Given the description of an element on the screen output the (x, y) to click on. 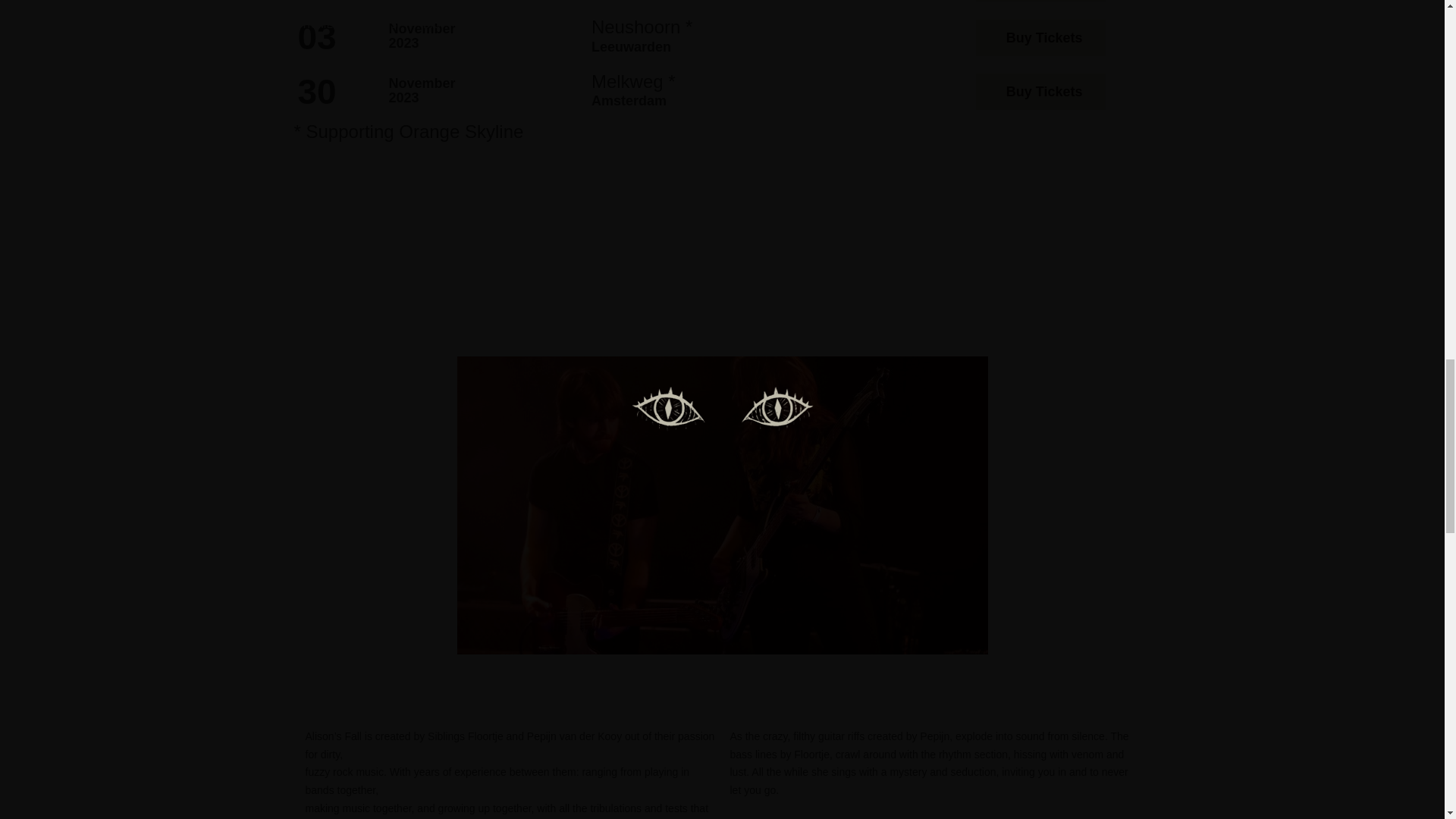
Buy Tickets (1040, 0)
Buy Tickets (1040, 91)
Buy Tickets (1040, 37)
